Given the description of an element on the screen output the (x, y) to click on. 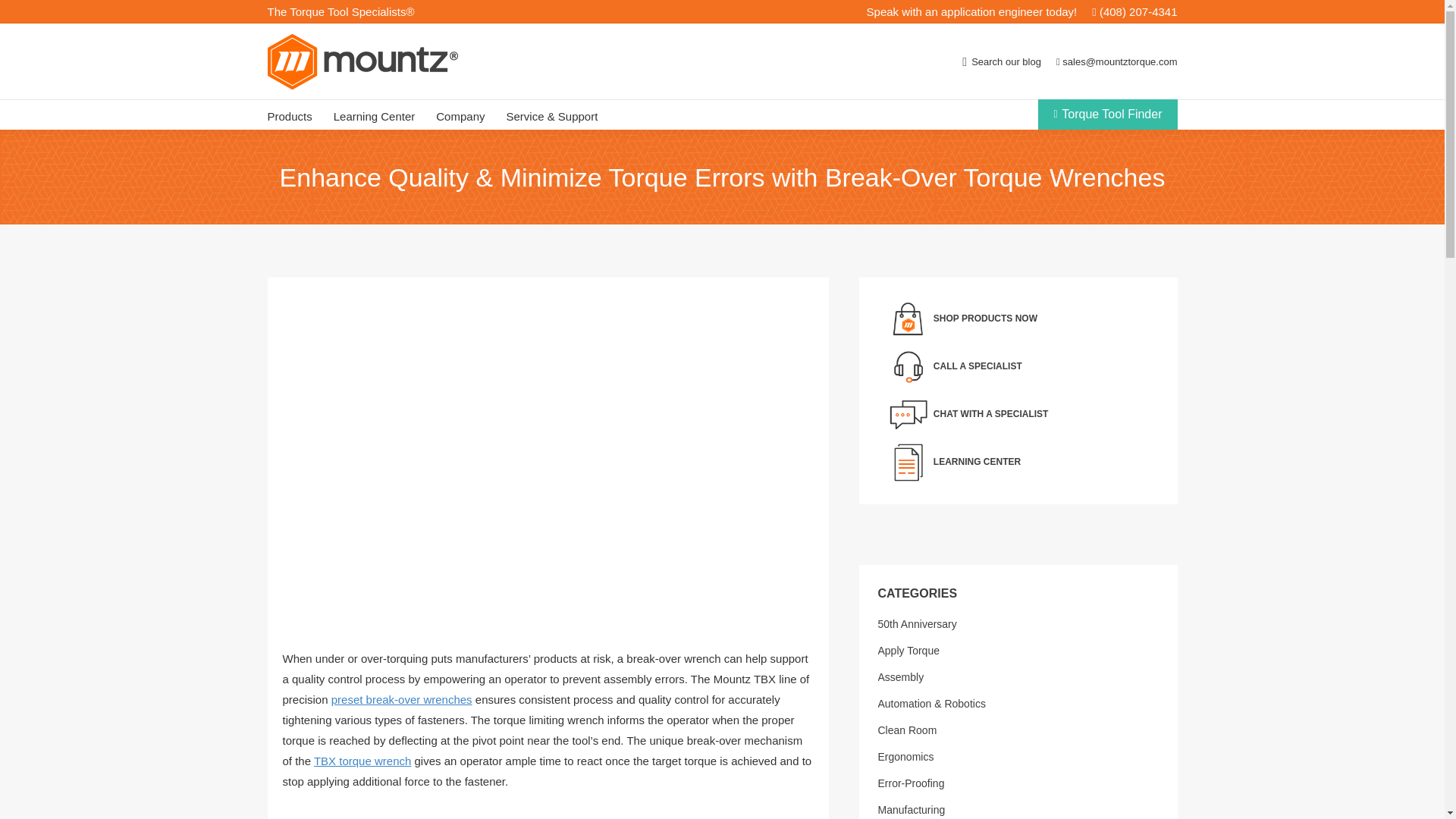
preset break-over wrenches (401, 698)
Go! (22, 14)
Products (288, 114)
Learning Center (373, 114)
Torque Tool Finder (1107, 114)
Company (459, 114)
Search our blog (1001, 60)
TBX torque wrench (362, 760)
